Given the description of an element on the screen output the (x, y) to click on. 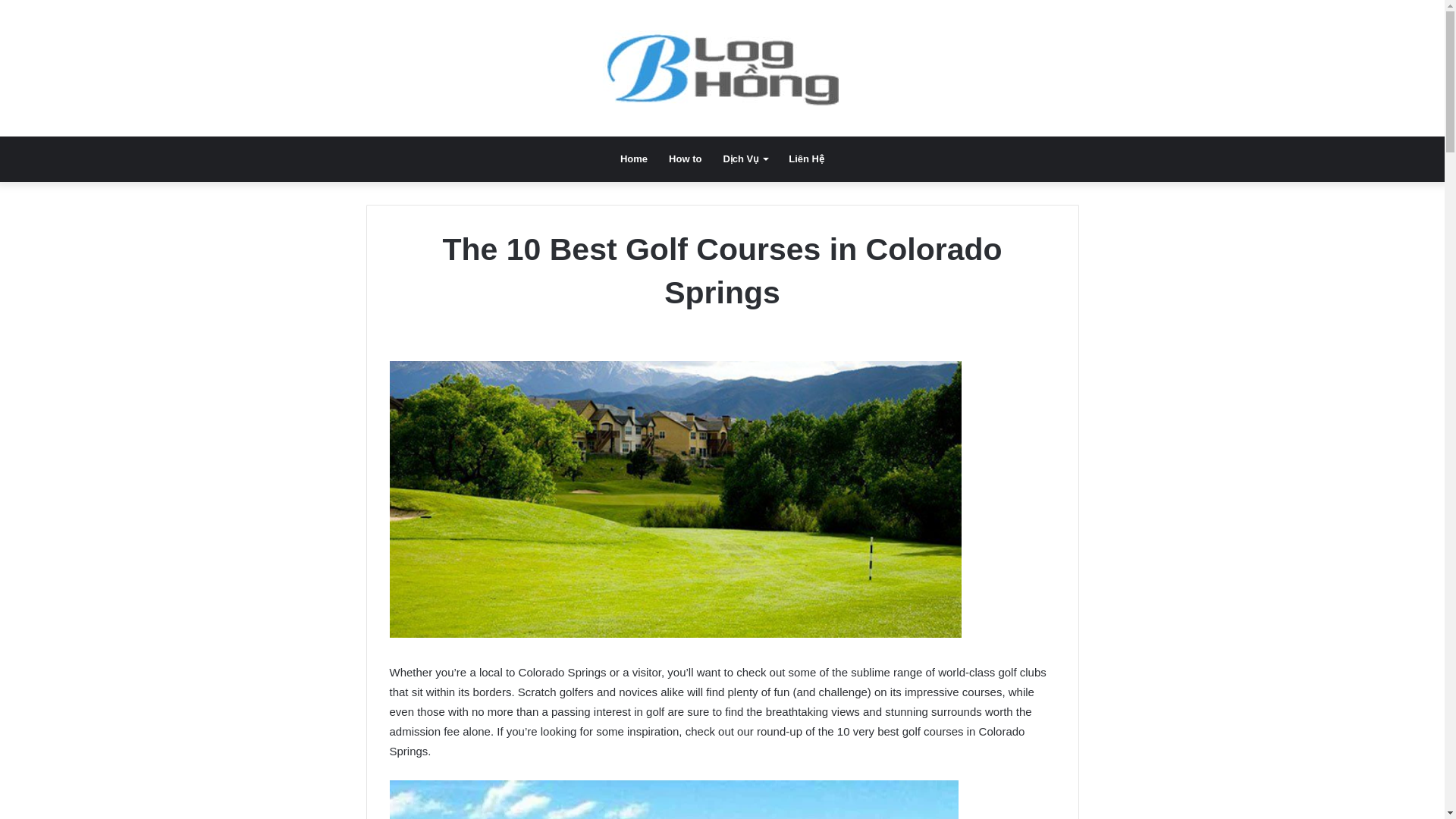
How to (684, 158)
Home (634, 158)
The 10 Best Golf Courses in Colorado Springs 2 (674, 799)
